Given the description of an element on the screen output the (x, y) to click on. 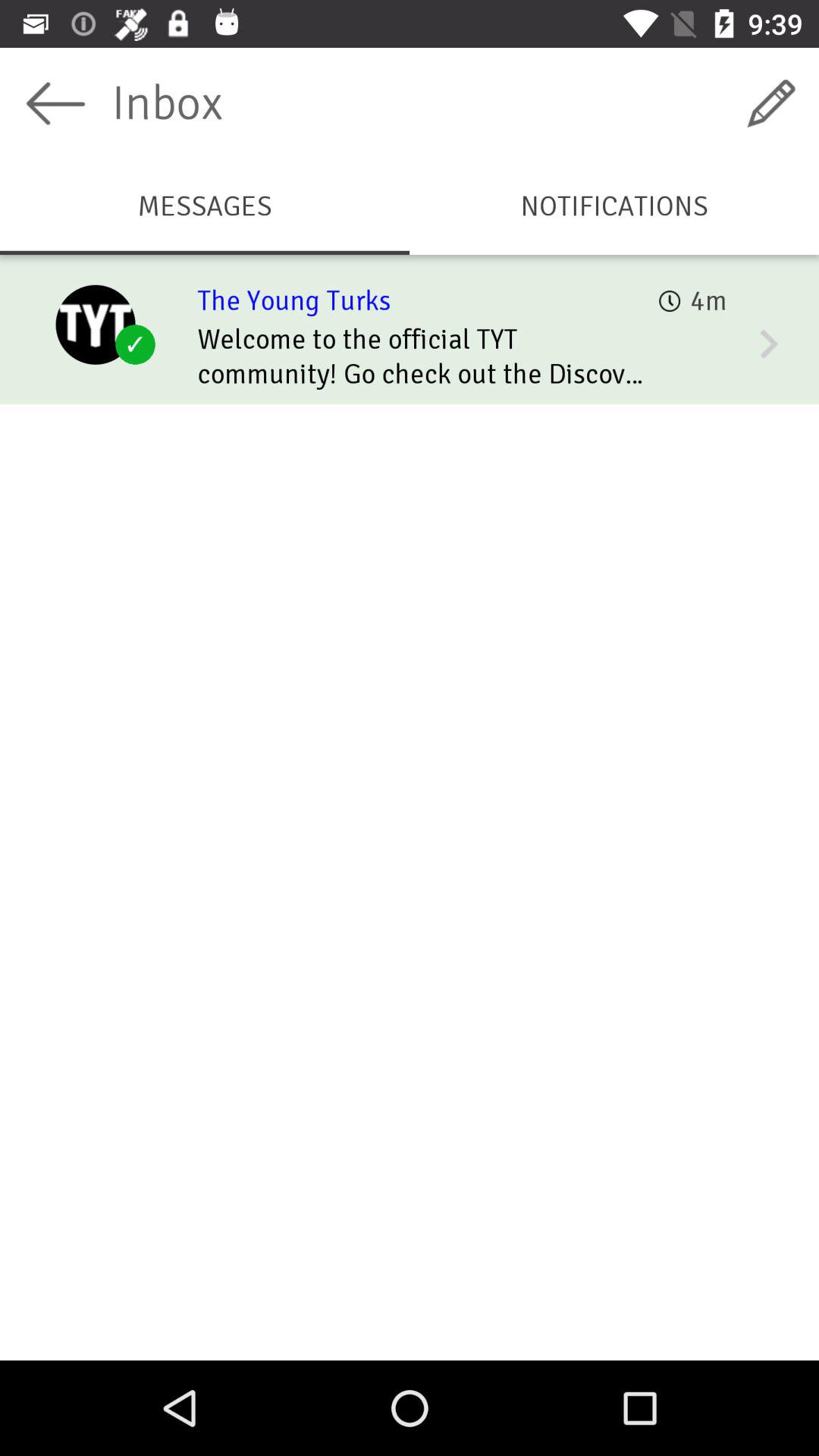
previous page (55, 103)
